Given the description of an element on the screen output the (x, y) to click on. 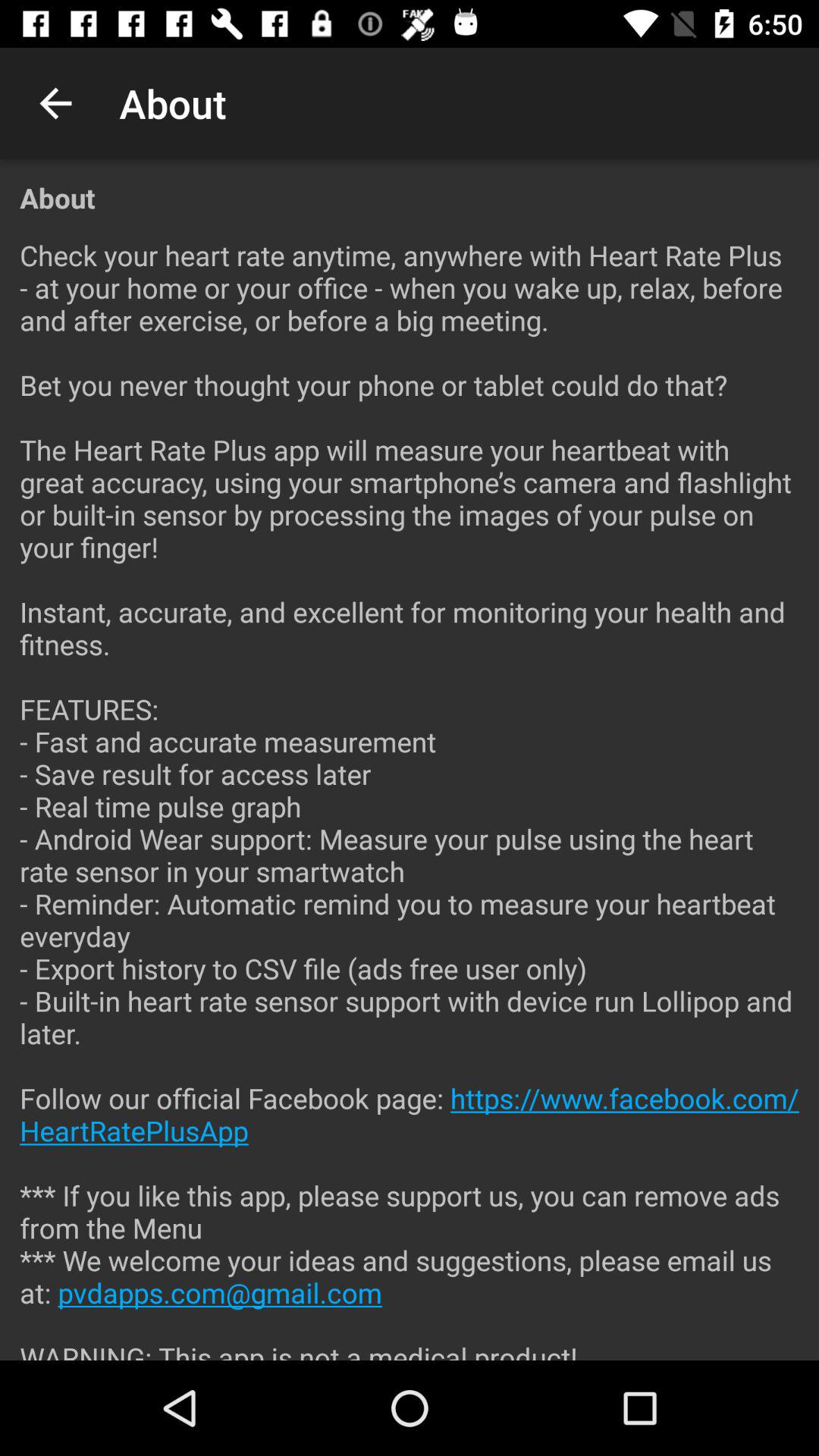
open icon at the center (409, 788)
